Given the description of an element on the screen output the (x, y) to click on. 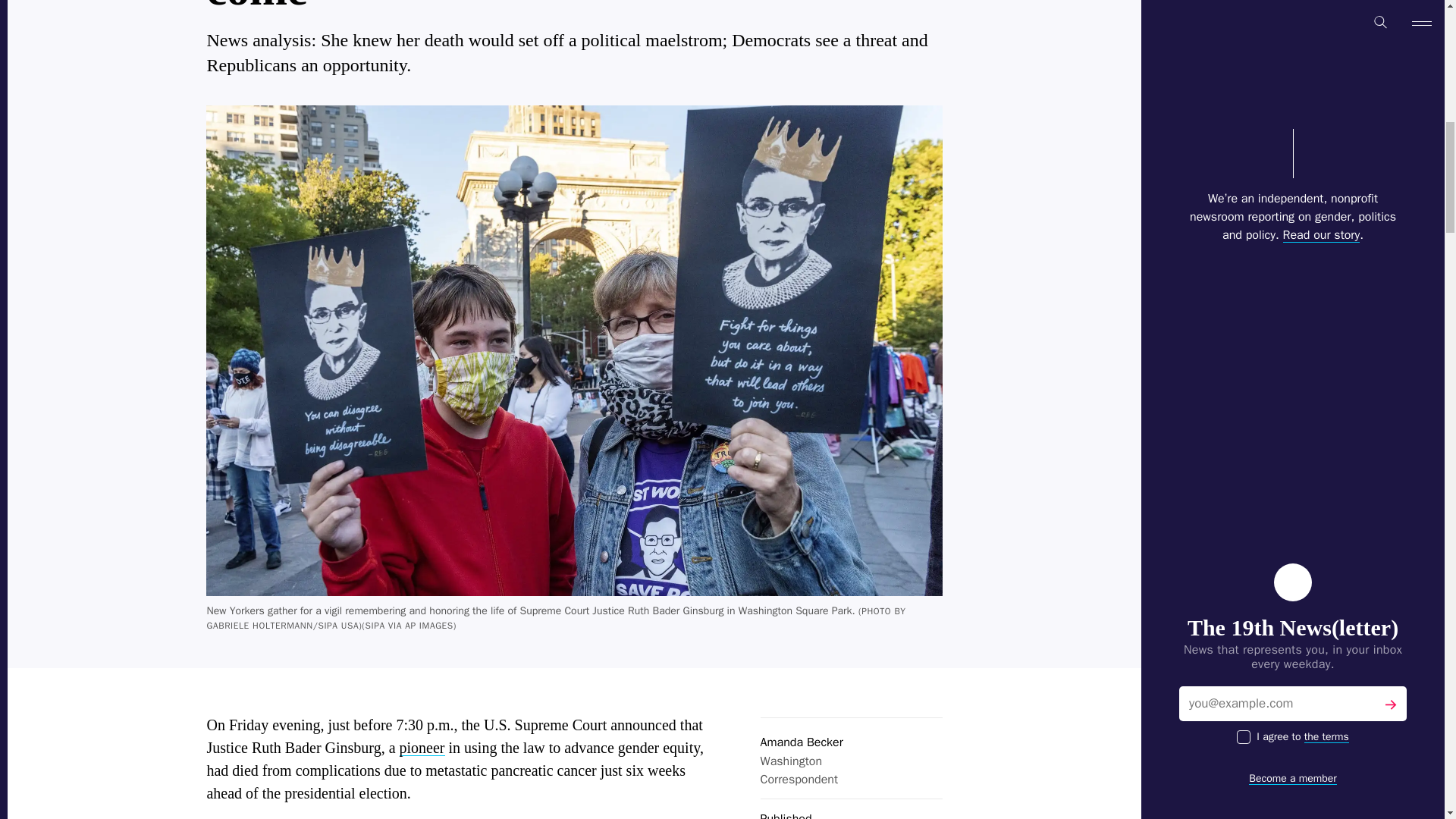
on (1243, 278)
